Given the description of an element on the screen output the (x, y) to click on. 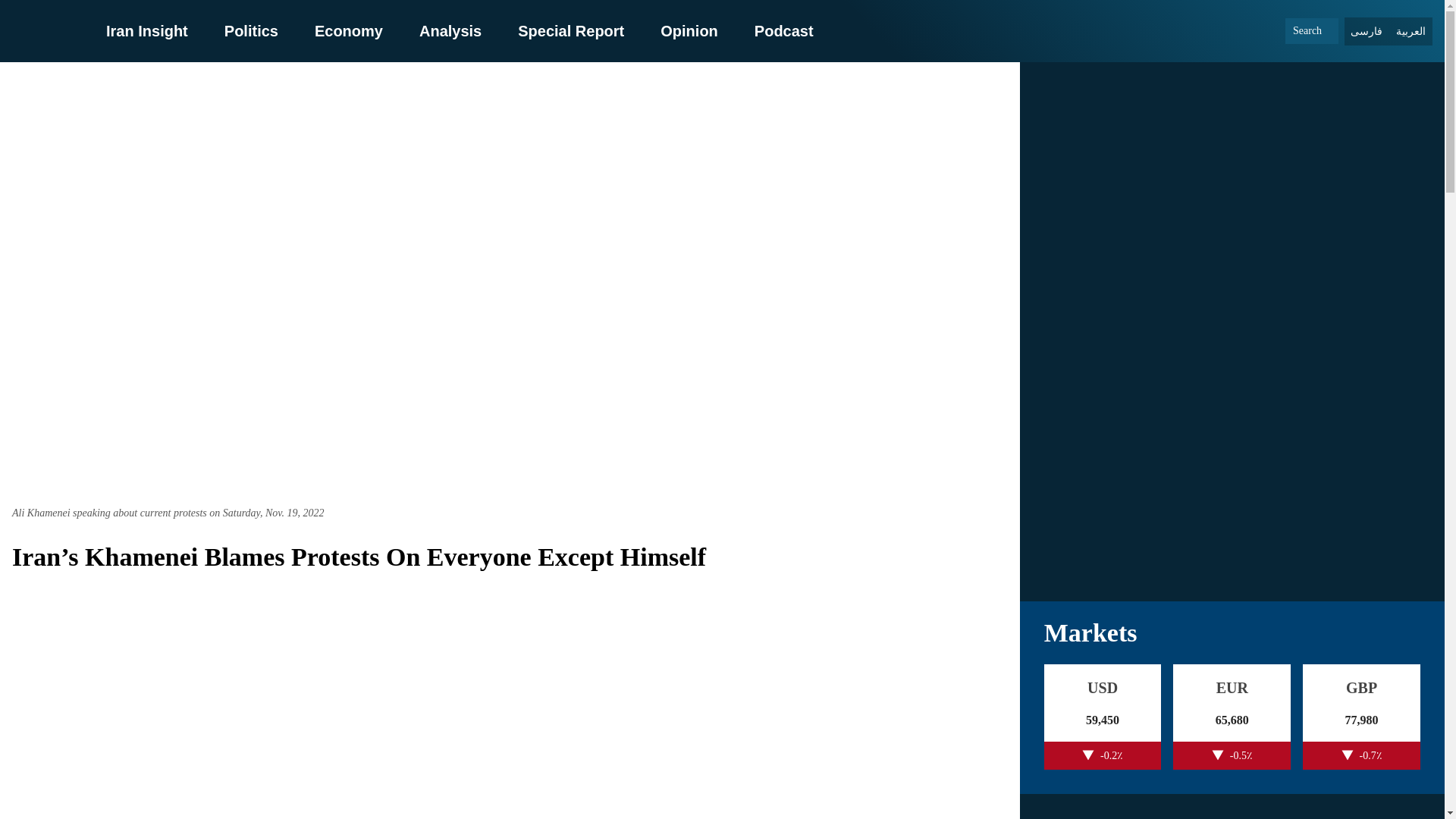
Politics (251, 30)
Analysis (450, 30)
Special Report (571, 30)
Economy (348, 30)
Live TV (1232, 479)
Opinion (689, 30)
Podcast (783, 30)
Iran Insight (146, 30)
